Given the description of an element on the screen output the (x, y) to click on. 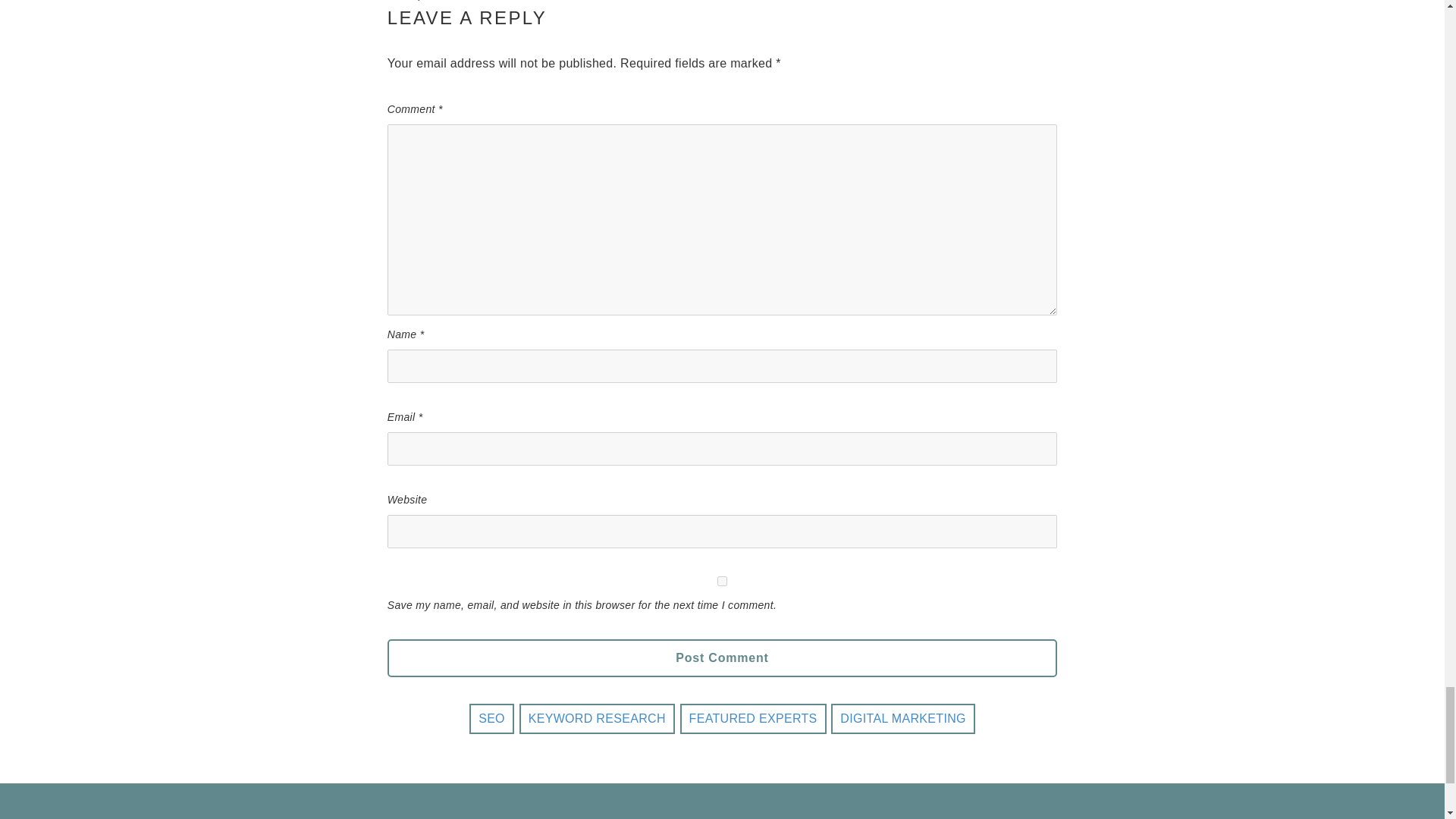
Post Comment (722, 658)
DIGITAL MARKETING (902, 718)
SEO (490, 718)
KEYWORD RESEARCH (597, 718)
yes (722, 581)
FEATURED EXPERTS (753, 718)
Post Comment (722, 658)
